Given the description of an element on the screen output the (x, y) to click on. 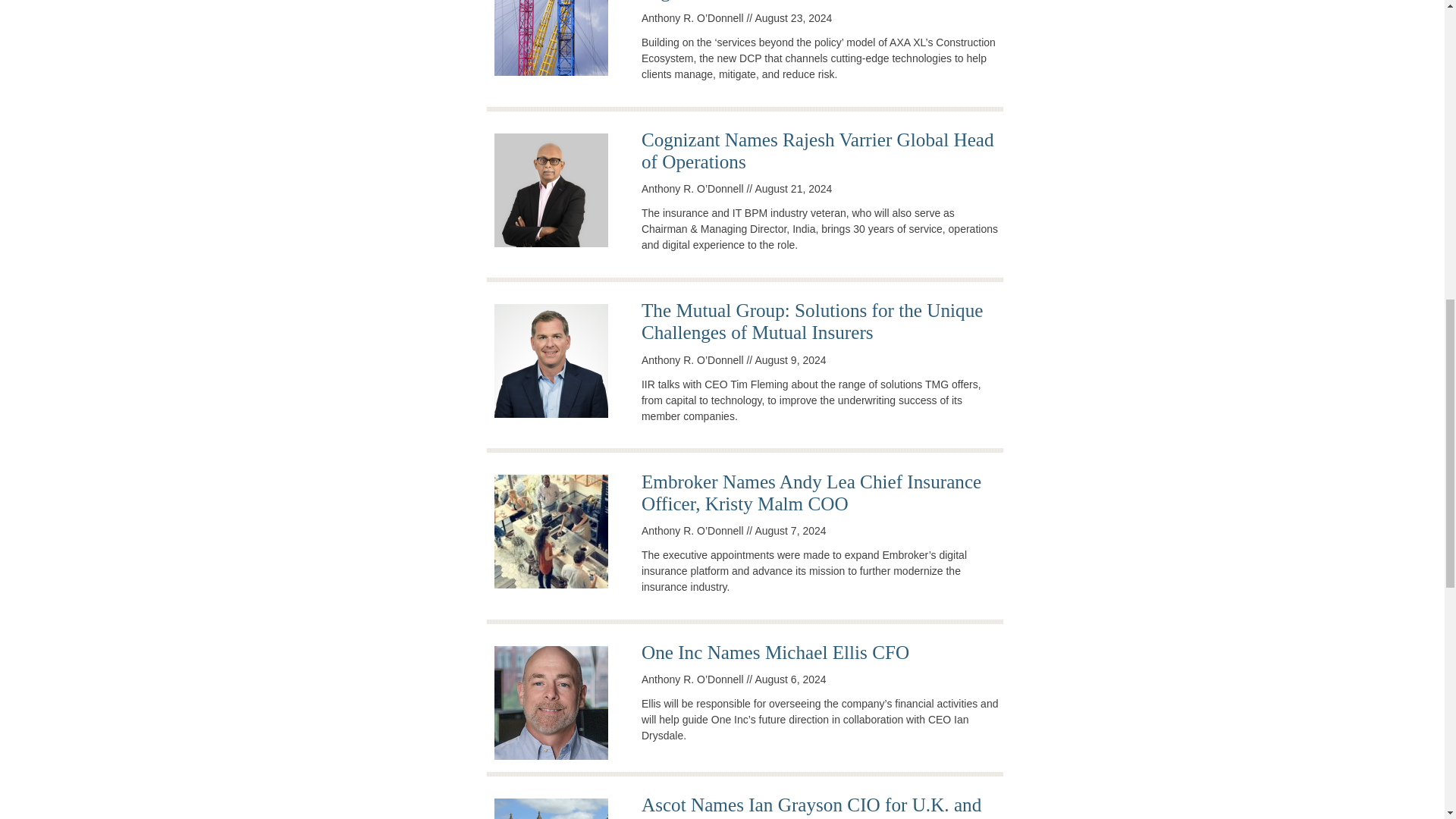
Cognizant Names Rajesh Varrier Global Head of Operations (818, 150)
Permalink to One Inc Names Michael Ellis CFO (775, 652)
One Inc Names Michael Ellis CFO (775, 652)
Ascot Names Ian Grayson CIO for U.K. and Bermuda (811, 806)
